Given the description of an element on the screen output the (x, y) to click on. 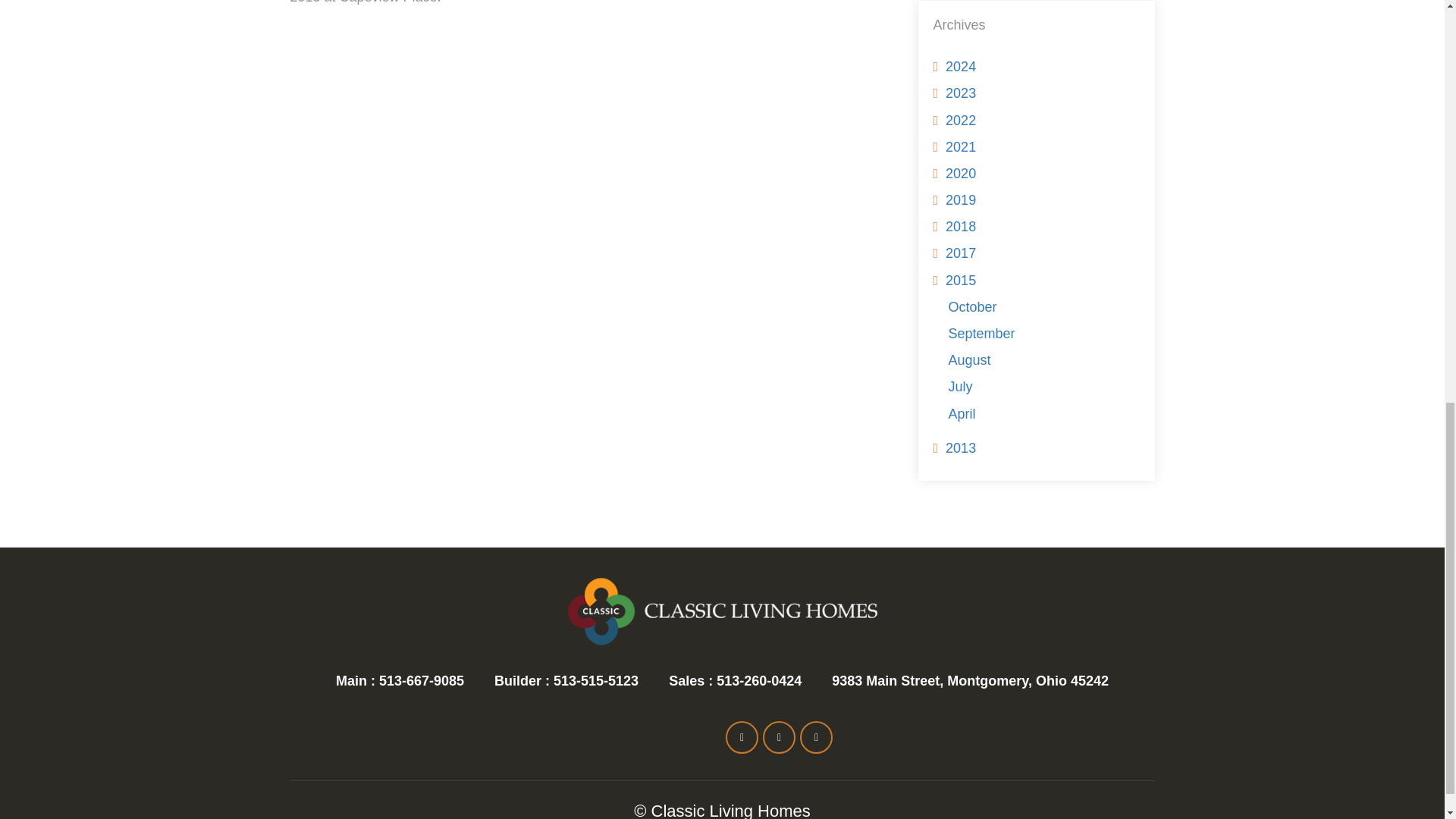
2024 (959, 66)
